Given the description of an element on the screen output the (x, y) to click on. 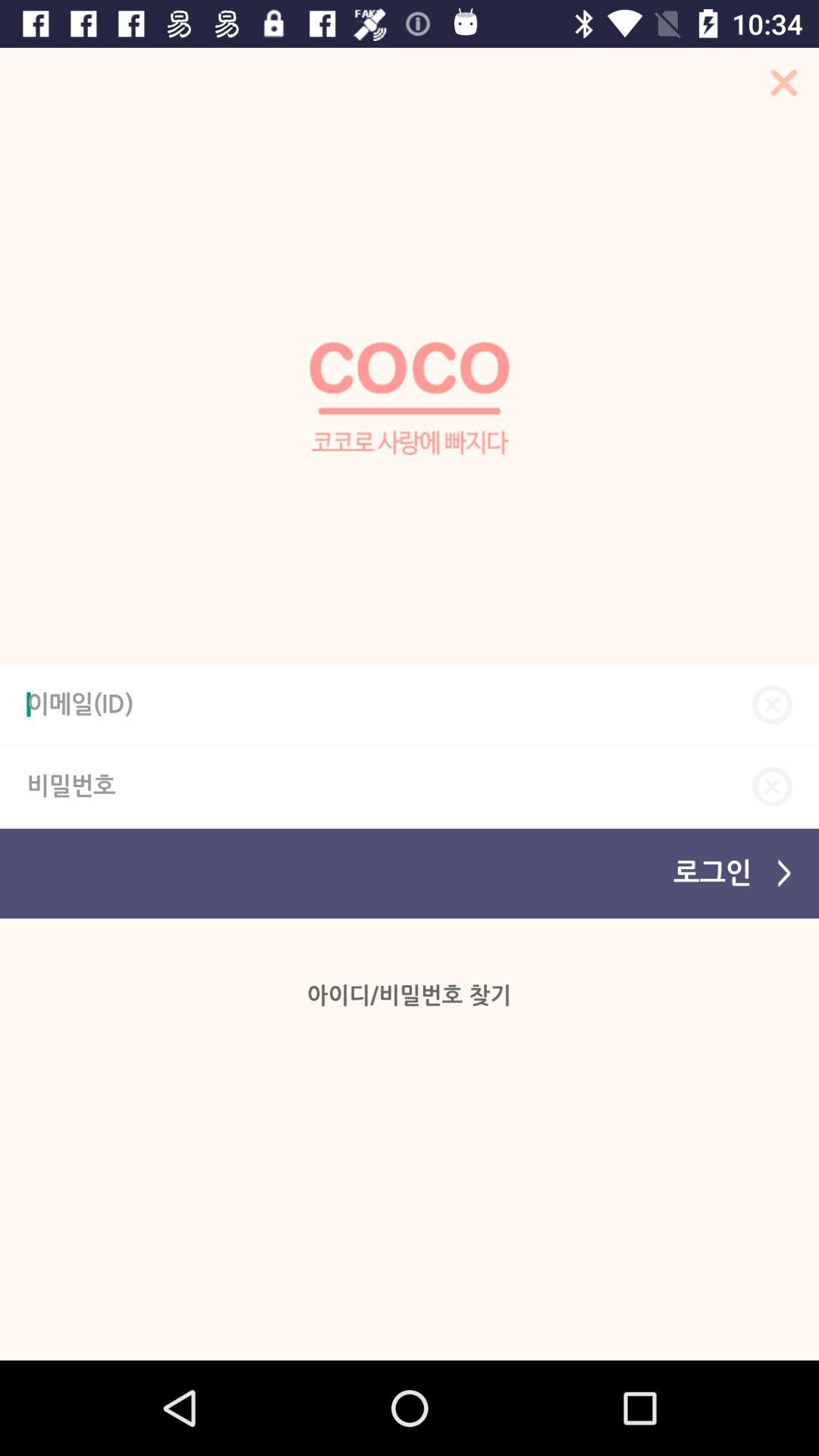
open icon at the top right corner (778, 87)
